Given the description of an element on the screen output the (x, y) to click on. 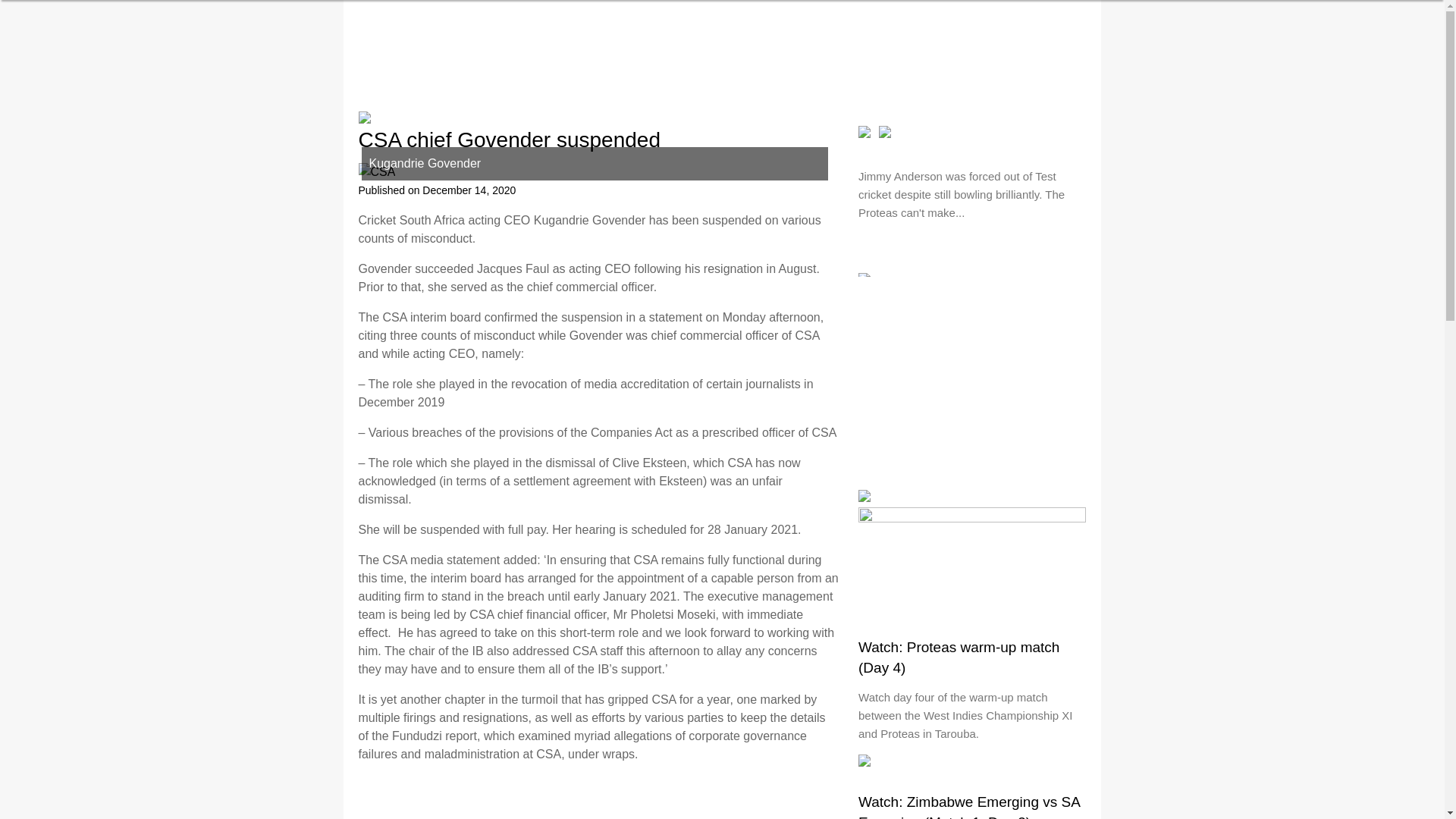
Monday, December 14th, 2020, 8:15 pm (468, 190)
CSA chief Govender suspended (376, 171)
